Given the description of an element on the screen output the (x, y) to click on. 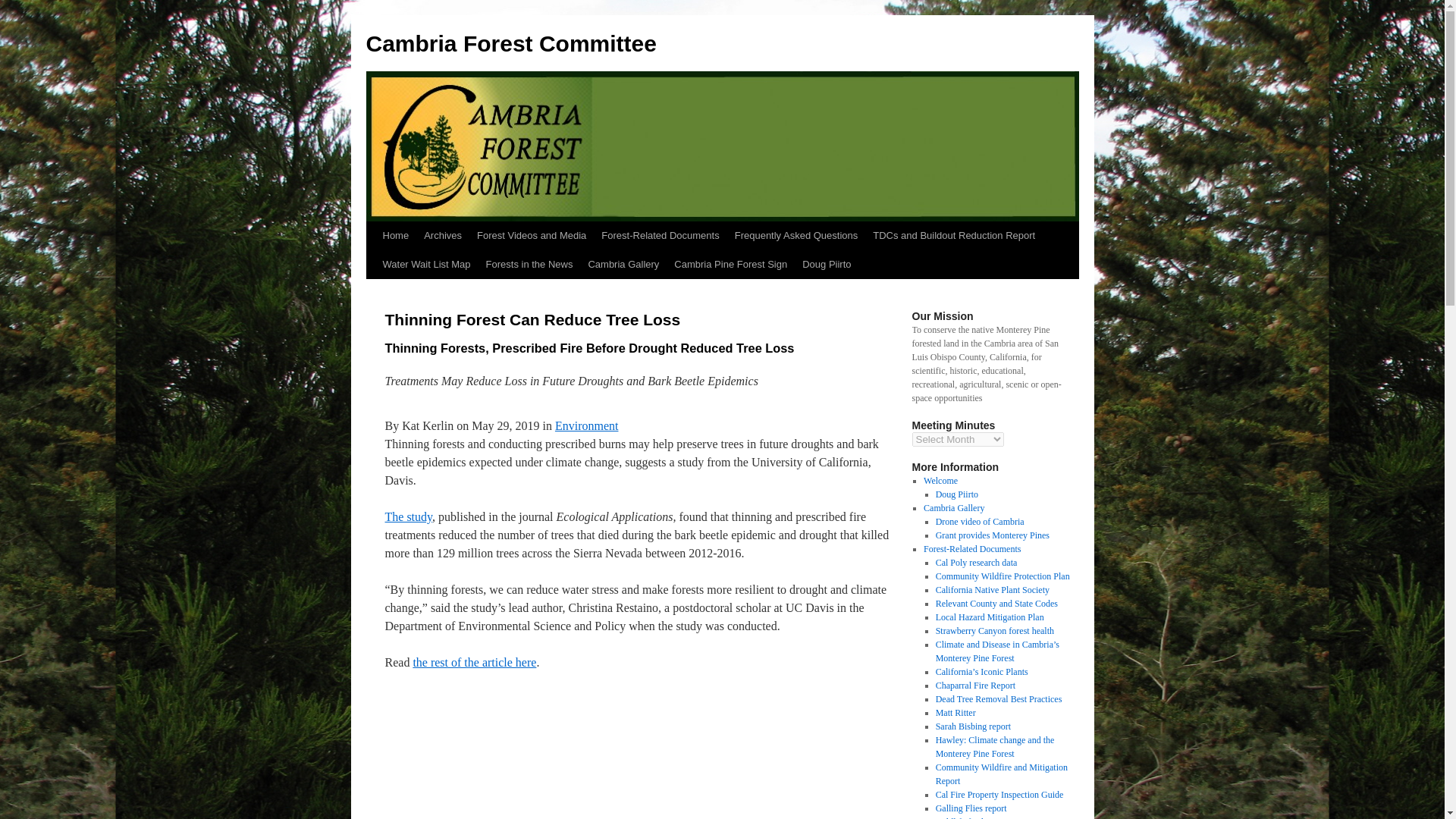
Home (395, 235)
Archives (442, 235)
Forest Videos and Media (531, 235)
Cambria Forest Committee (510, 43)
Frequently Asked Questions (796, 235)
Forest-Related Documents (660, 235)
Cambria Forest Committee (510, 43)
